Given the description of an element on the screen output the (x, y) to click on. 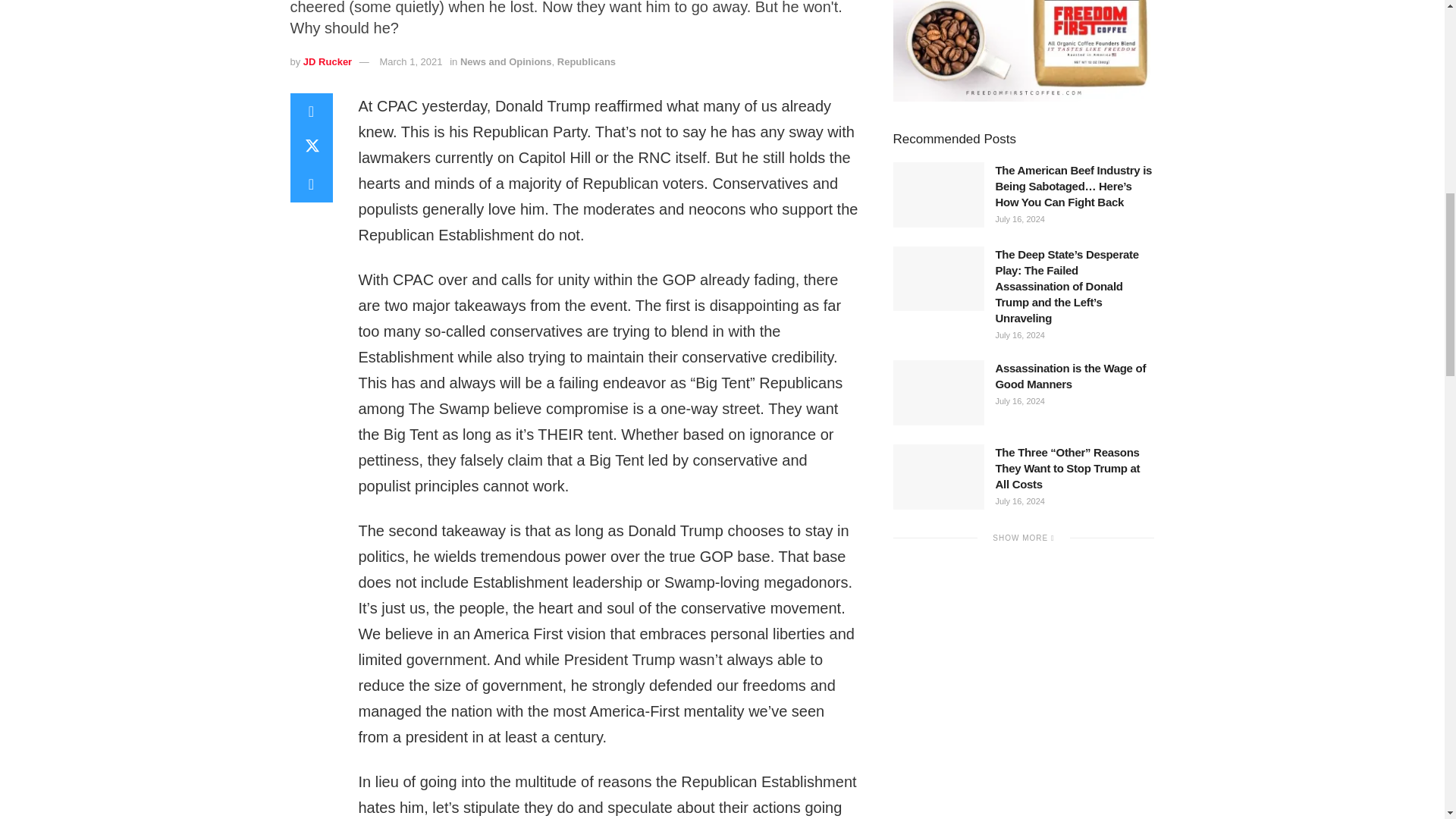
Republicans (586, 61)
March 1, 2021 (410, 61)
JD Rucker (327, 61)
News and Opinions (505, 61)
